Given the description of an element on the screen output the (x, y) to click on. 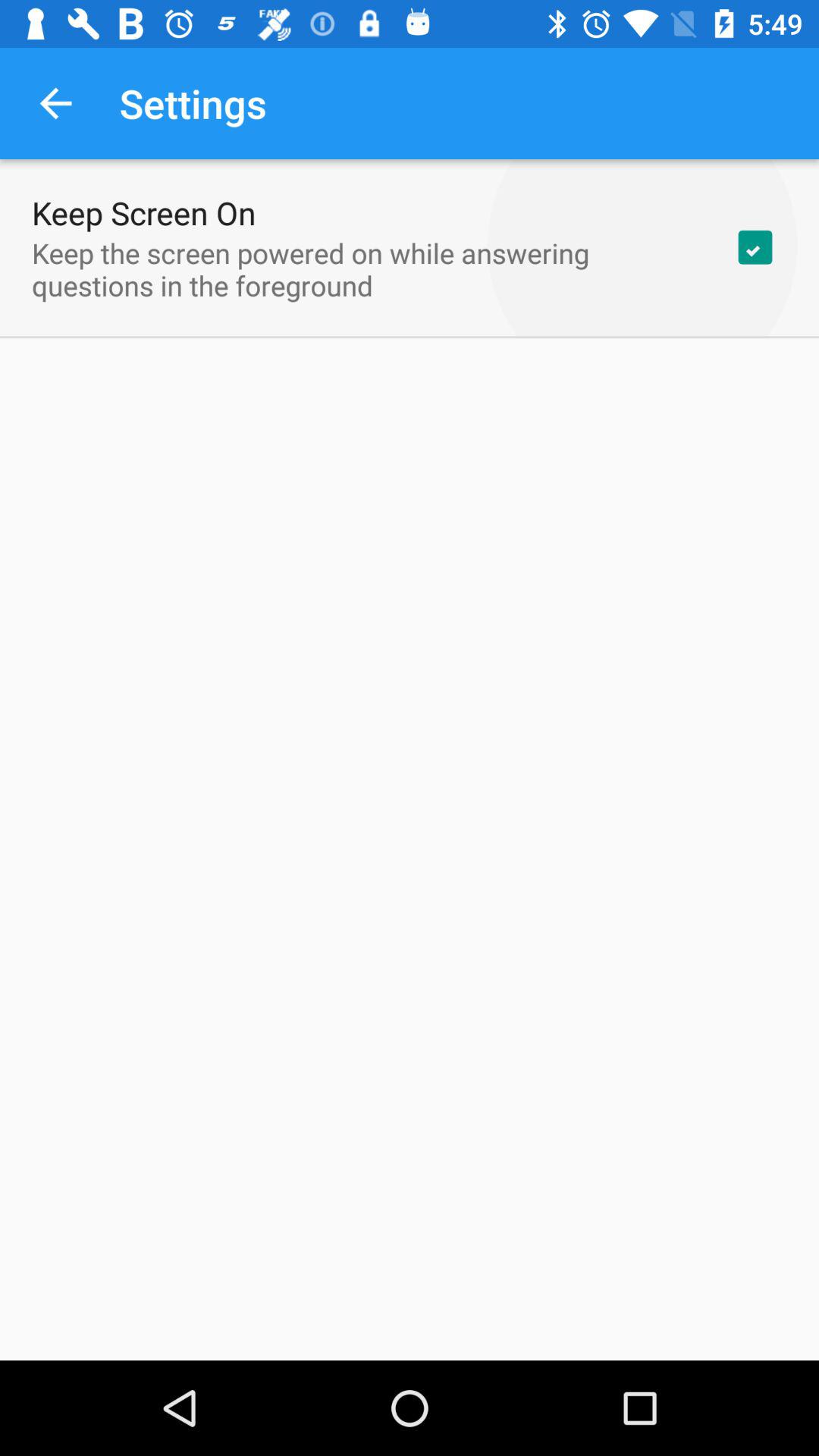
turn off the icon above the keep screen on app (55, 103)
